Given the description of an element on the screen output the (x, y) to click on. 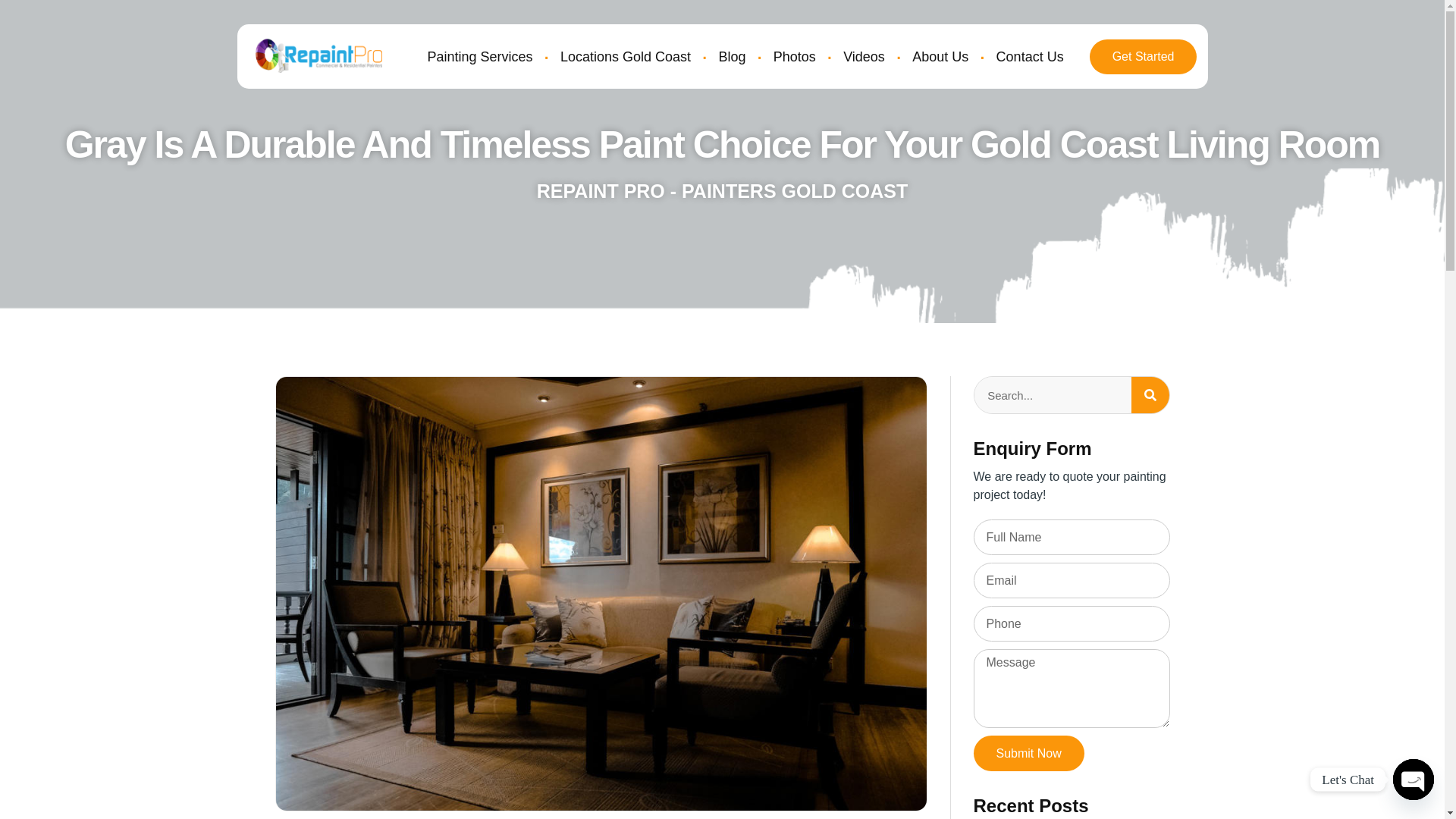
Painting Services (479, 56)
